Given the description of an element on the screen output the (x, y) to click on. 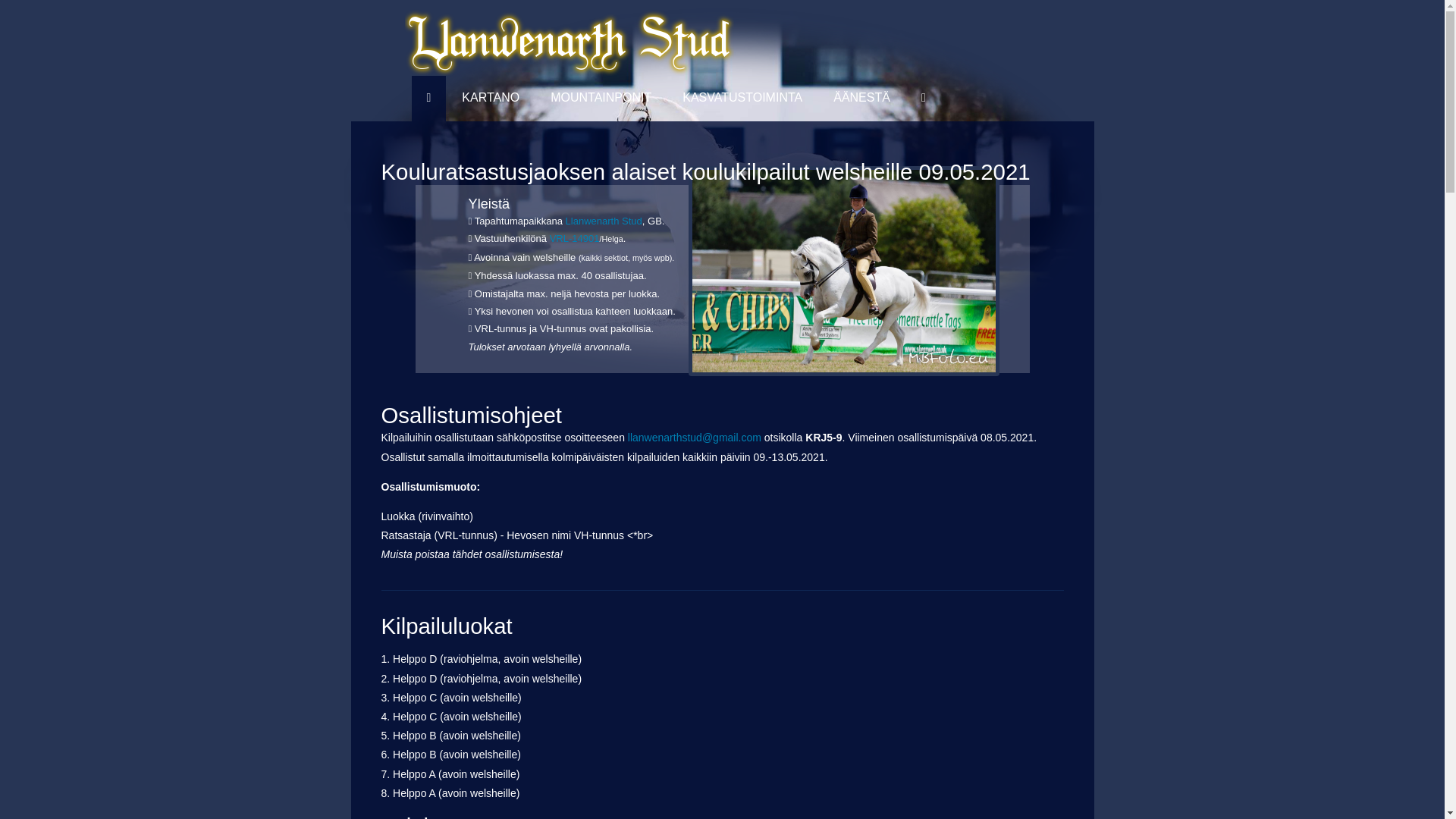
llanwenarthstud@gmail.com Element type: text (694, 437)
KASVATUSTOIMINTA Element type: text (742, 98)
VRL-14901 Element type: text (574, 238)
MOUNTAINPONIT Element type: text (600, 98)
Llanwenarth Stud Element type: text (603, 220)
KARTANO Element type: text (490, 98)
